Given the description of an element on the screen output the (x, y) to click on. 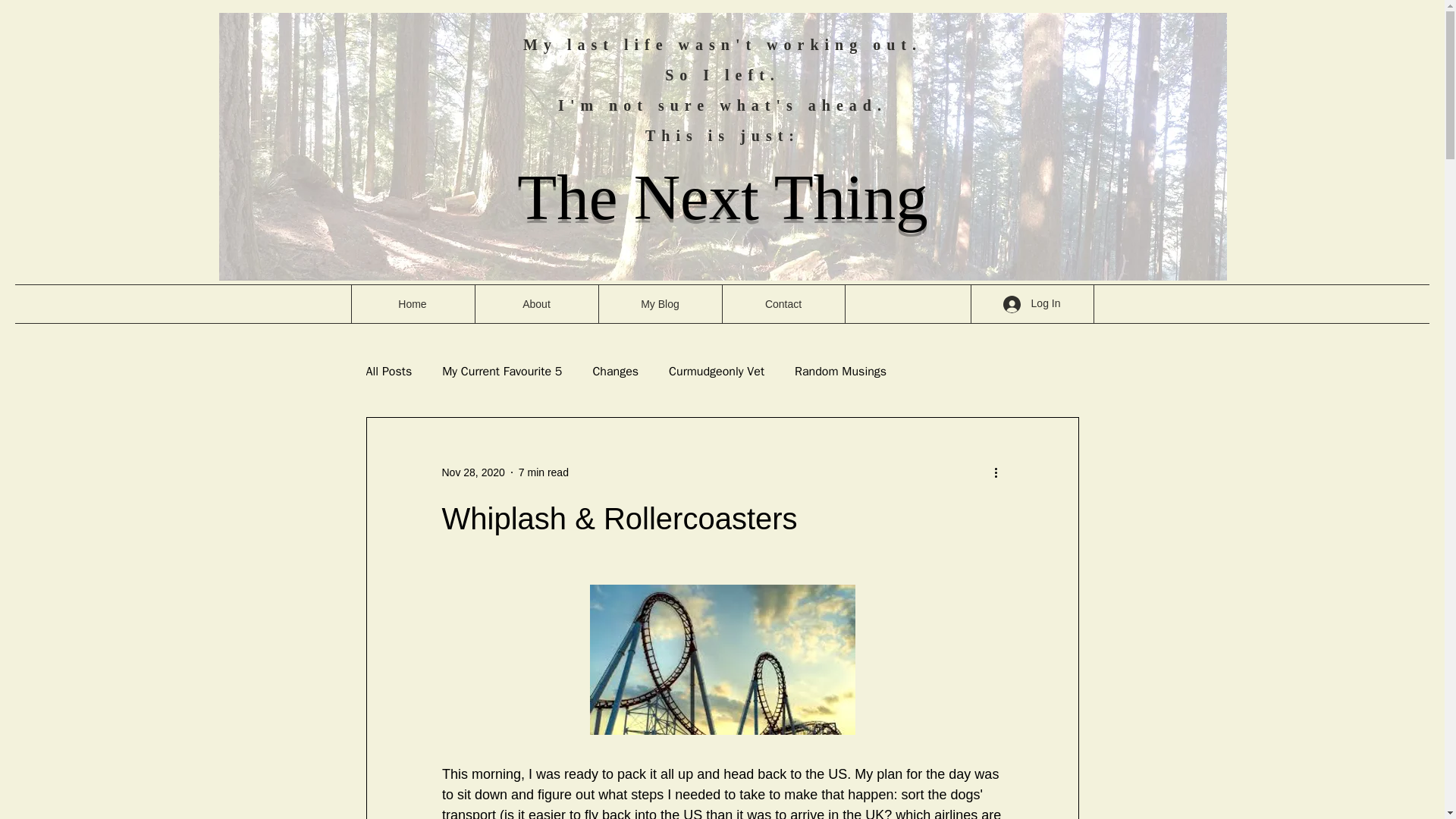
Contact (783, 303)
Random Musings (840, 371)
7 min read (543, 471)
The Next Thing (721, 196)
Home (412, 303)
About (536, 303)
Nov 28, 2020 (472, 471)
My Current Favourite 5 (502, 371)
Changes (615, 371)
All Posts (388, 371)
Log In (1031, 304)
Curmudgeonly Vet (716, 371)
My Blog (658, 303)
